Given the description of an element on the screen output the (x, y) to click on. 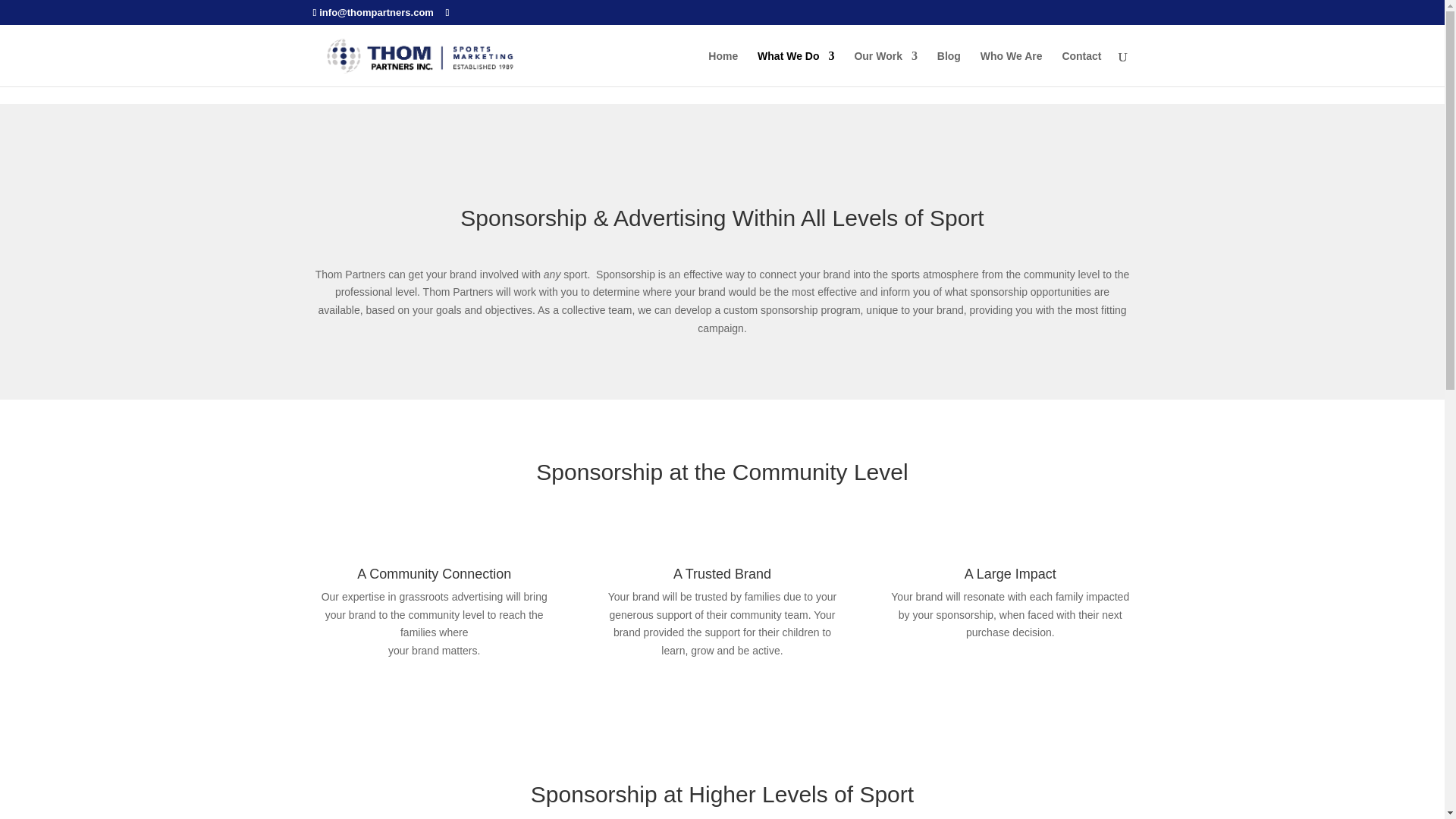
Who We Are (1010, 67)
Contact (1080, 67)
What We Do (795, 67)
Our Work (885, 67)
